Given the description of an element on the screen output the (x, y) to click on. 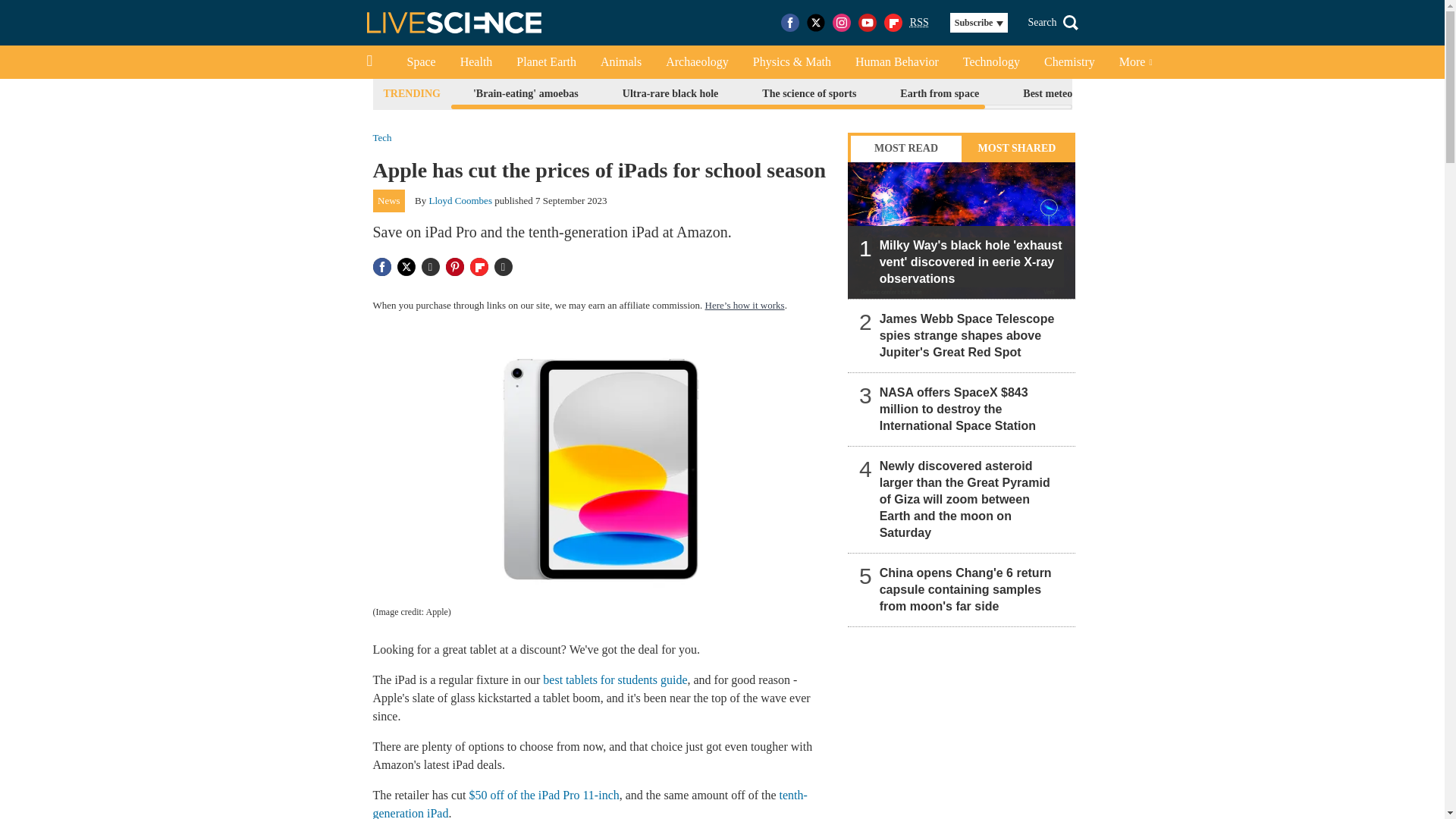
Animals (620, 61)
'Brain-eating' amoebas (525, 93)
Technology (991, 61)
Space (420, 61)
Ultra-rare black hole (670, 93)
Human Behavior (896, 61)
Health (476, 61)
RSS (919, 22)
Earth from space (939, 93)
Really Simple Syndication (919, 21)
News (389, 200)
Chemistry (1069, 61)
Lloyd Coombes (460, 200)
The science of sports (809, 93)
Archaeology (697, 61)
